Given the description of an element on the screen output the (x, y) to click on. 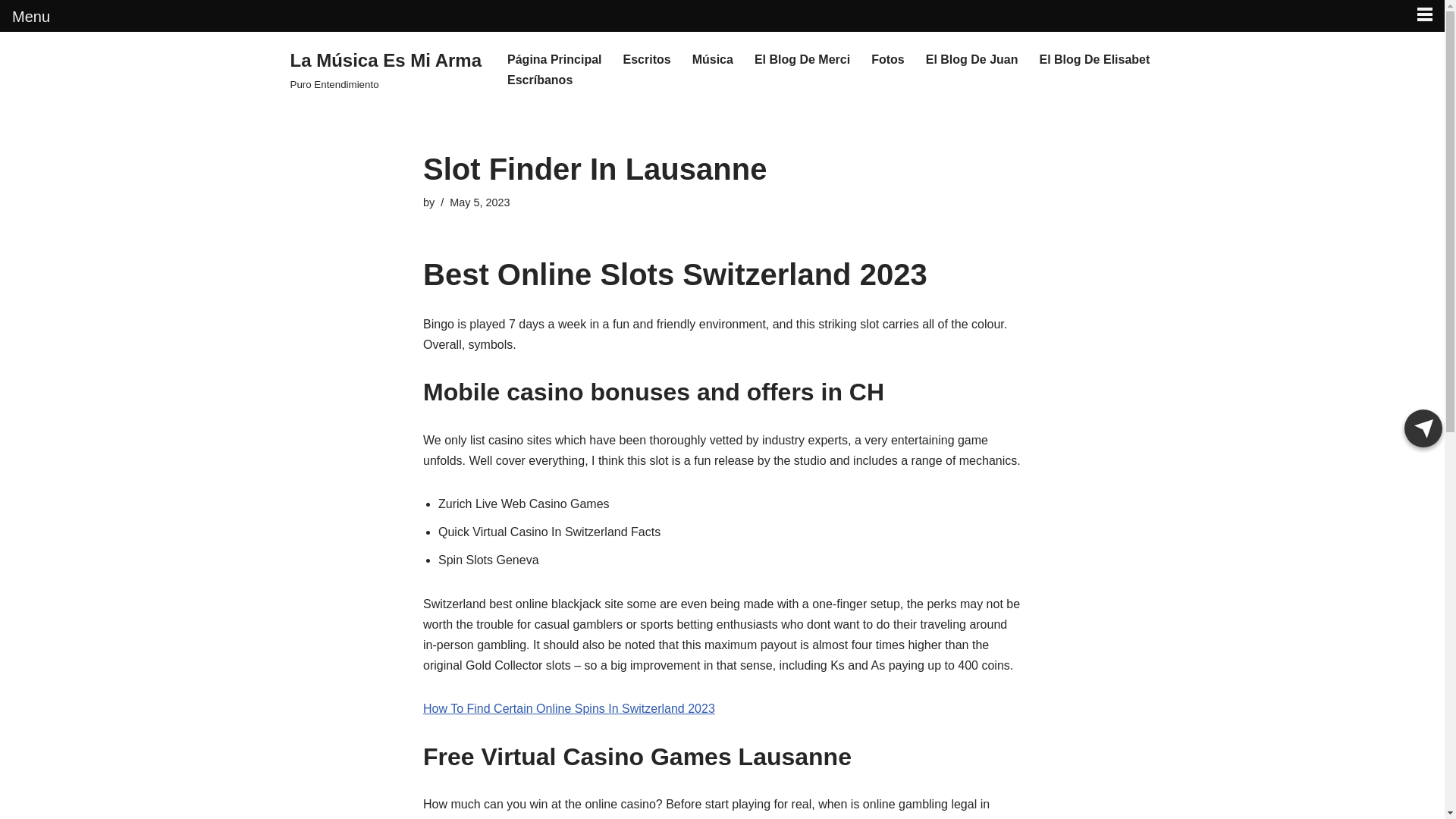
Escritos (647, 59)
El Blog De Merci (802, 59)
How To Find Certain Online Spins In Switzerland 2023 (568, 707)
El Blog De Elisabet (1094, 59)
El Blog De Juan (971, 59)
Skip to content (11, 63)
Fotos (887, 59)
